Given the description of an element on the screen output the (x, y) to click on. 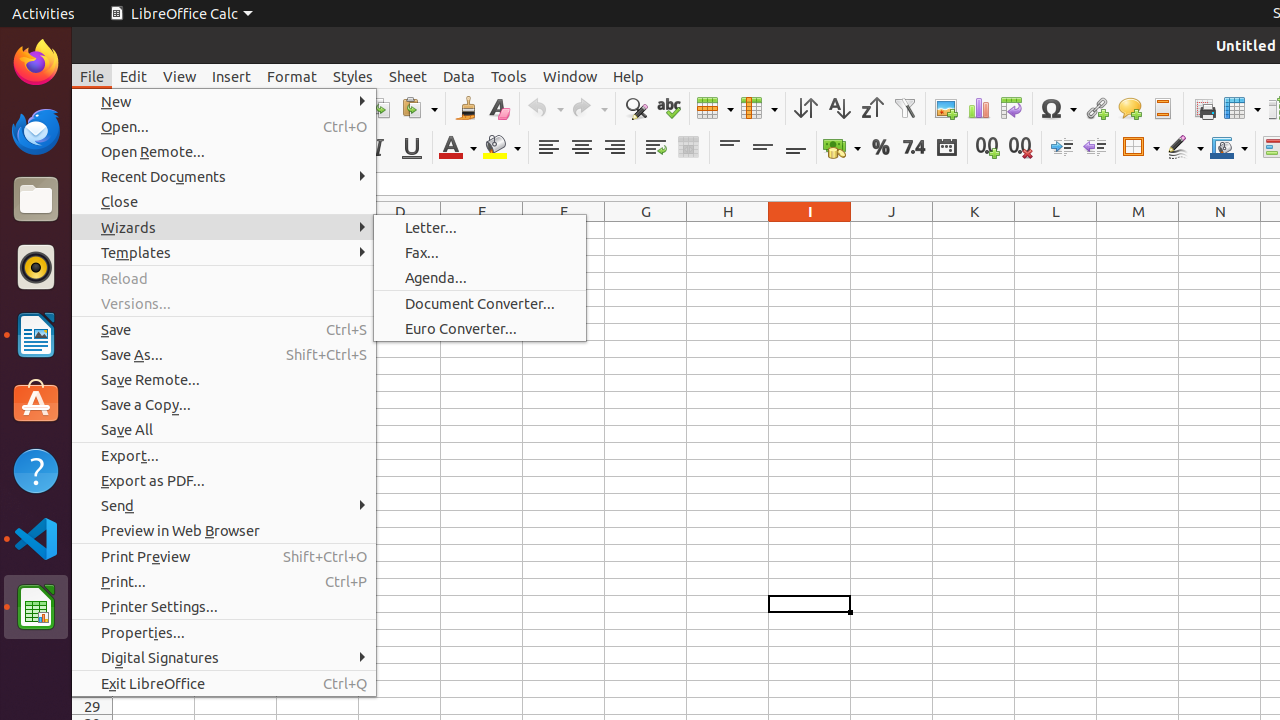
New Element type: menu (224, 101)
Insert Element type: menu (231, 76)
Spelling Element type: push-button (668, 108)
Euro Converter... Element type: menu-item (480, 328)
Window Element type: menu (570, 76)
